Given the description of an element on the screen output the (x, y) to click on. 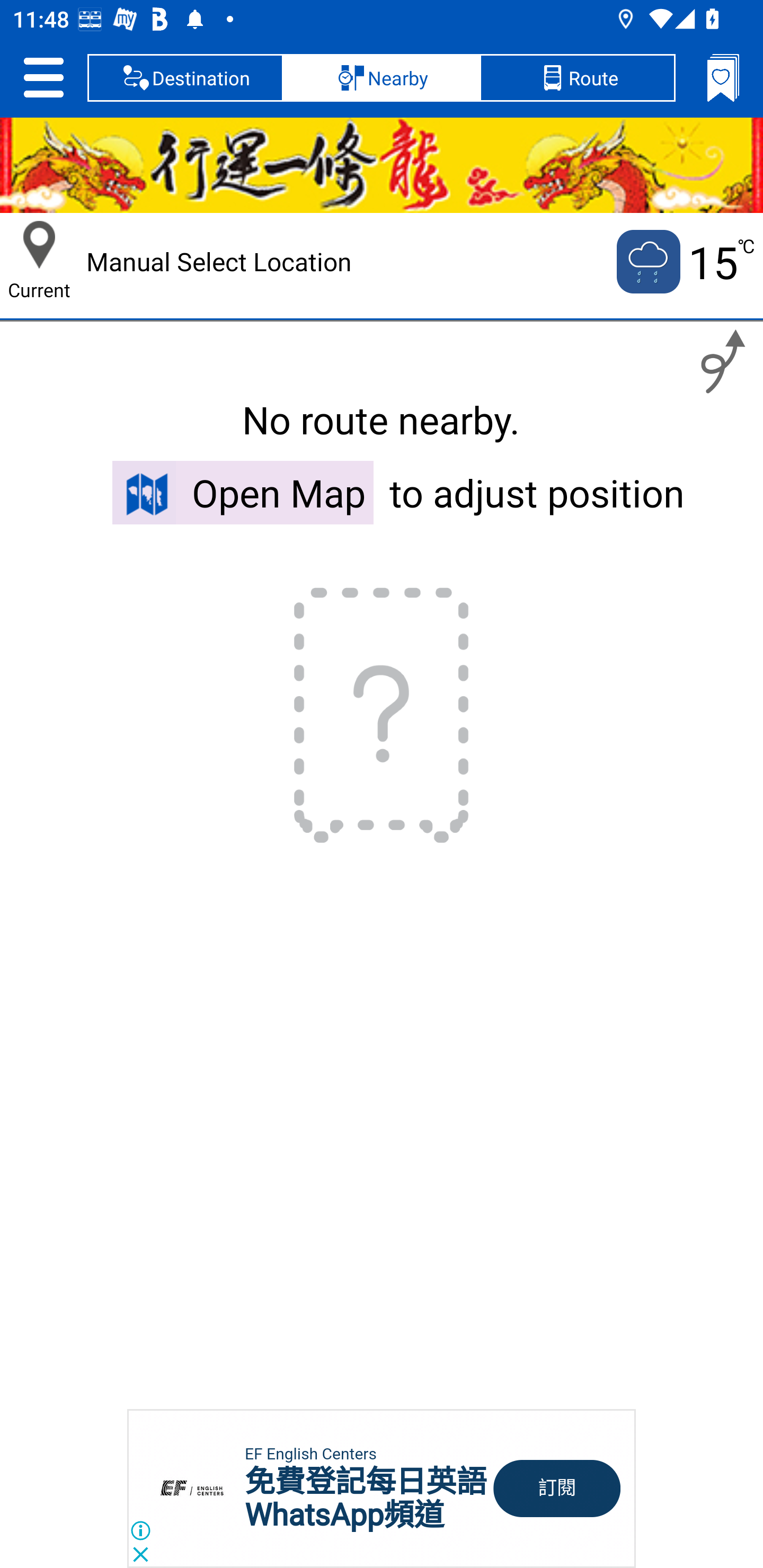
Destination (185, 77)
Nearby, selected (381, 77)
Route (577, 77)
Bookmarks (723, 77)
Setting (43, 77)
Lunar New Year 2024 (381, 165)
Current Location (38, 244)
Current temputure is  15  no 15 ℃ (684, 261)
Open Map (242, 491)
EF English Centers (310, 1454)
訂閱 (556, 1488)
免費登記每日英語 WhatsApp頻道 免費登記每日英語 WhatsApp頻道 (365, 1497)
